Given the description of an element on the screen output the (x, y) to click on. 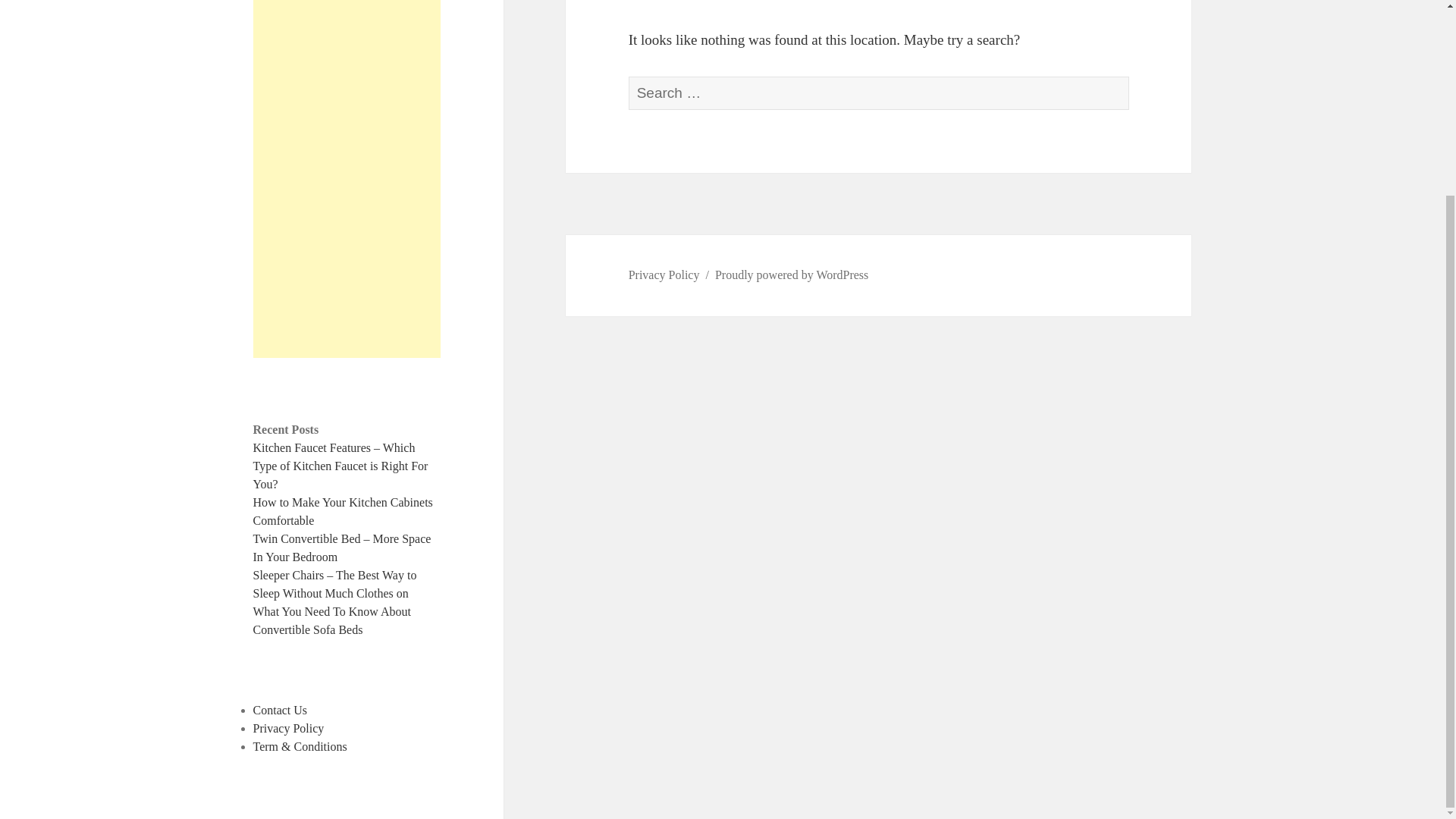
Contact Us (280, 709)
Privacy Policy (288, 727)
What You Need To Know About Convertible Sofa Beds (331, 620)
How to Make Your Kitchen Cabinets Comfortable (342, 511)
Proudly powered by WordPress (790, 274)
Advertisement (347, 178)
Privacy Policy (664, 274)
